Given the description of an element on the screen output the (x, y) to click on. 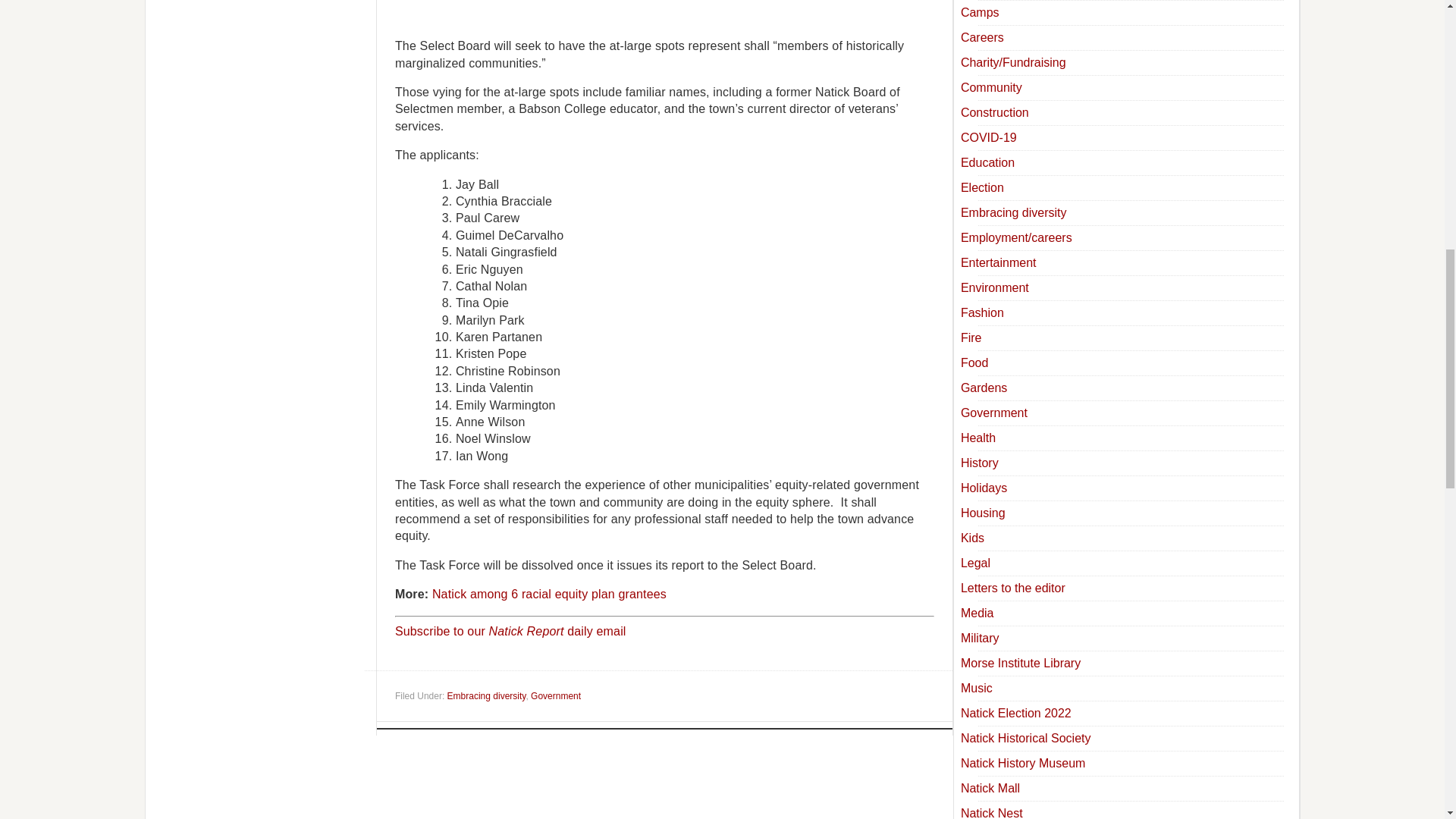
Embracing diversity (485, 696)
Subscribe to our Natick Report daily email (510, 631)
Natick among 6 racial equity plan grantees (549, 594)
Government (555, 696)
